Given the description of an element on the screen output the (x, y) to click on. 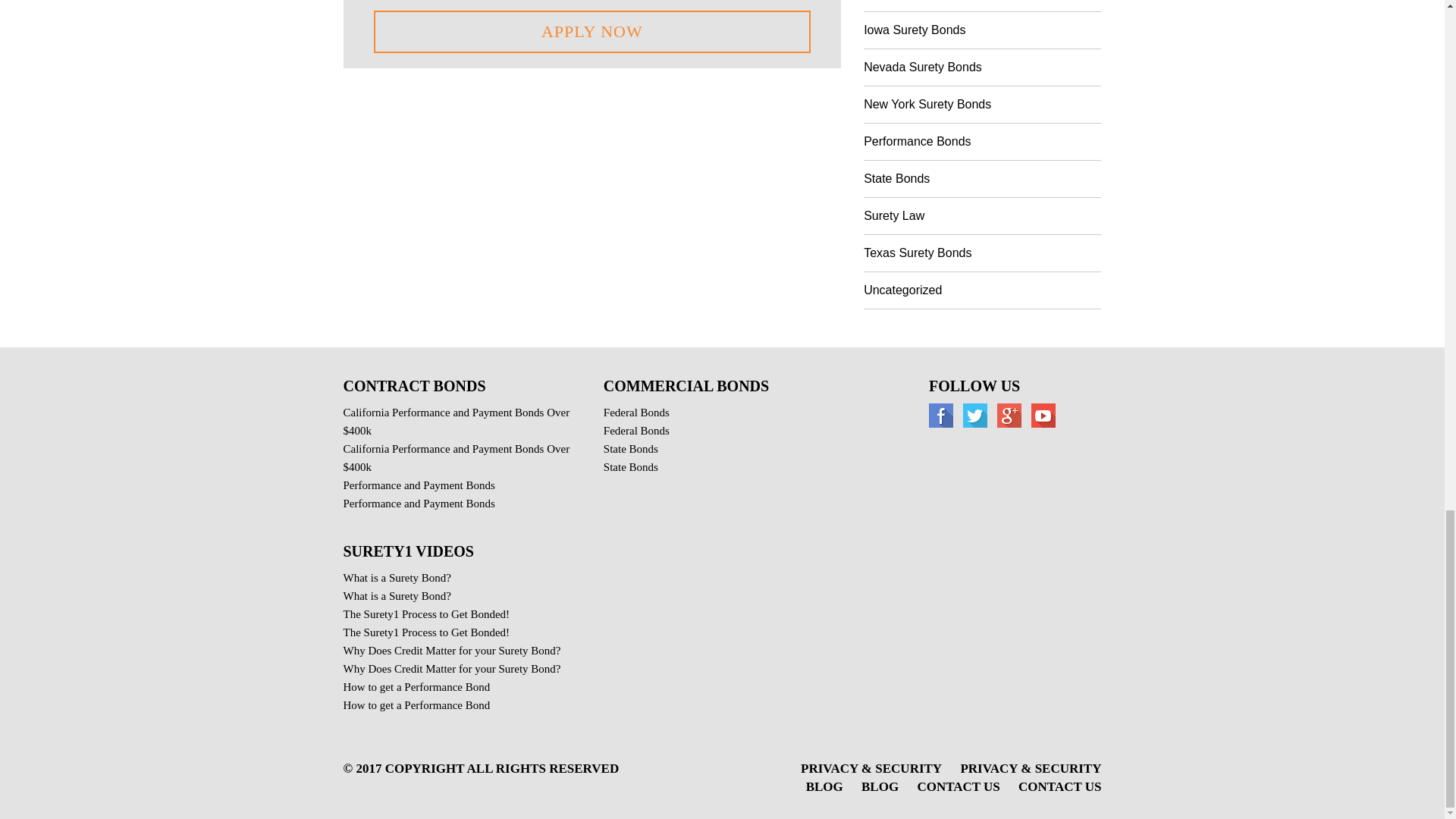
Youtube (1042, 414)
Twitter (974, 414)
Facebook (940, 414)
APPLY NOW (591, 31)
